Given the description of an element on the screen output the (x, y) to click on. 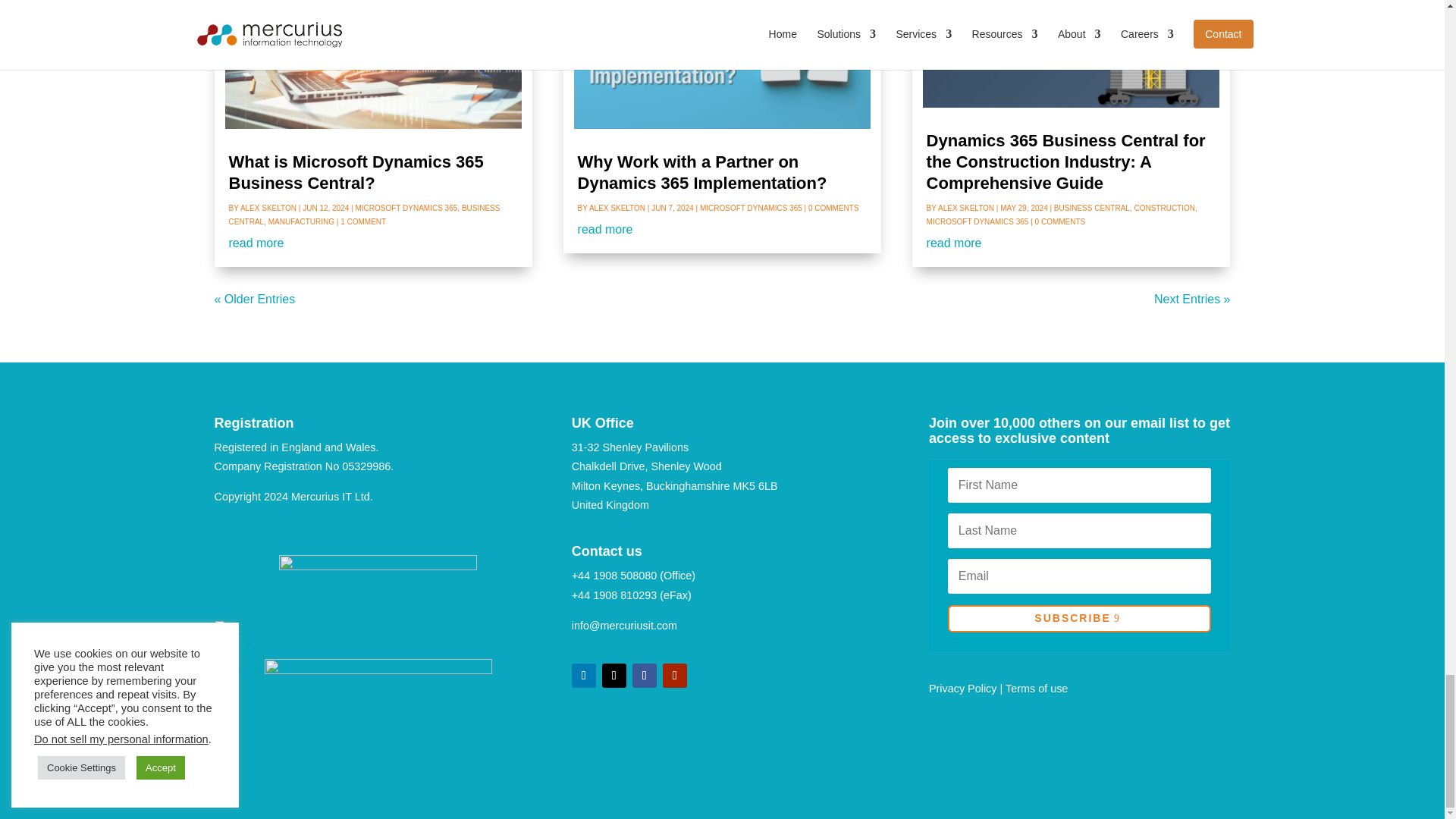
Posts by Alex Skelton (617, 207)
Follow on LinkedIn (583, 675)
Follow on Twitter (614, 675)
Follow on Facebook (643, 675)
Posts by Alex Skelton (268, 207)
Posts by Alex Skelton (965, 207)
